Given the description of an element on the screen output the (x, y) to click on. 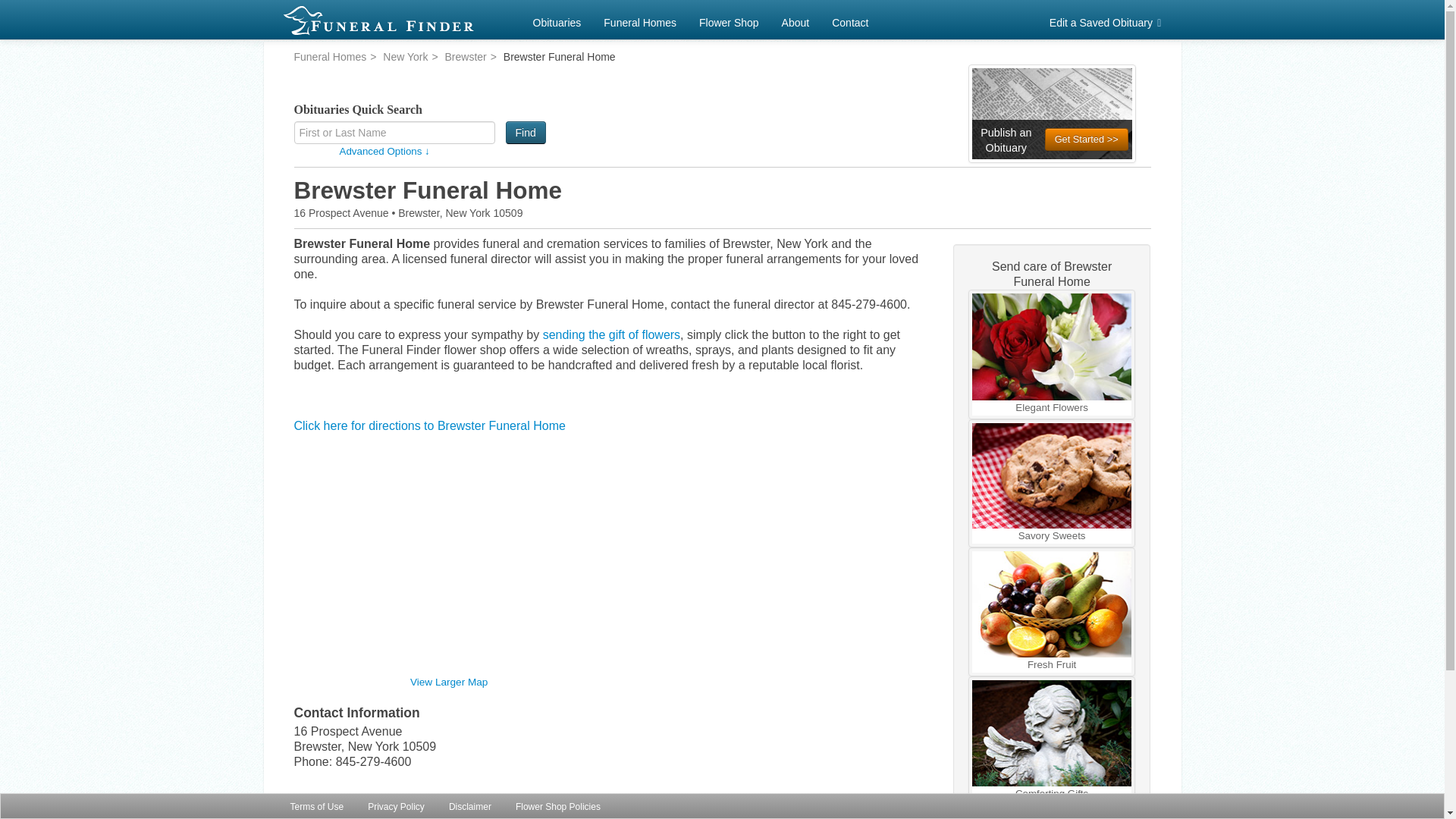
New York (405, 56)
Find (525, 132)
Funeral Homes (639, 19)
View Larger Map (448, 681)
Edit a Saved Obituary (1107, 19)
Brewster (465, 56)
Comforting Gifts (1052, 740)
Fresh Fruit (1052, 611)
About (795, 19)
Savory Sweets (1052, 483)
Elegant Flowers (1052, 354)
sending the gift of flowers (611, 334)
Click here for directions to Brewster Funeral Home (430, 425)
Contact (850, 19)
Privacy Policy (395, 806)
